Given the description of an element on the screen output the (x, y) to click on. 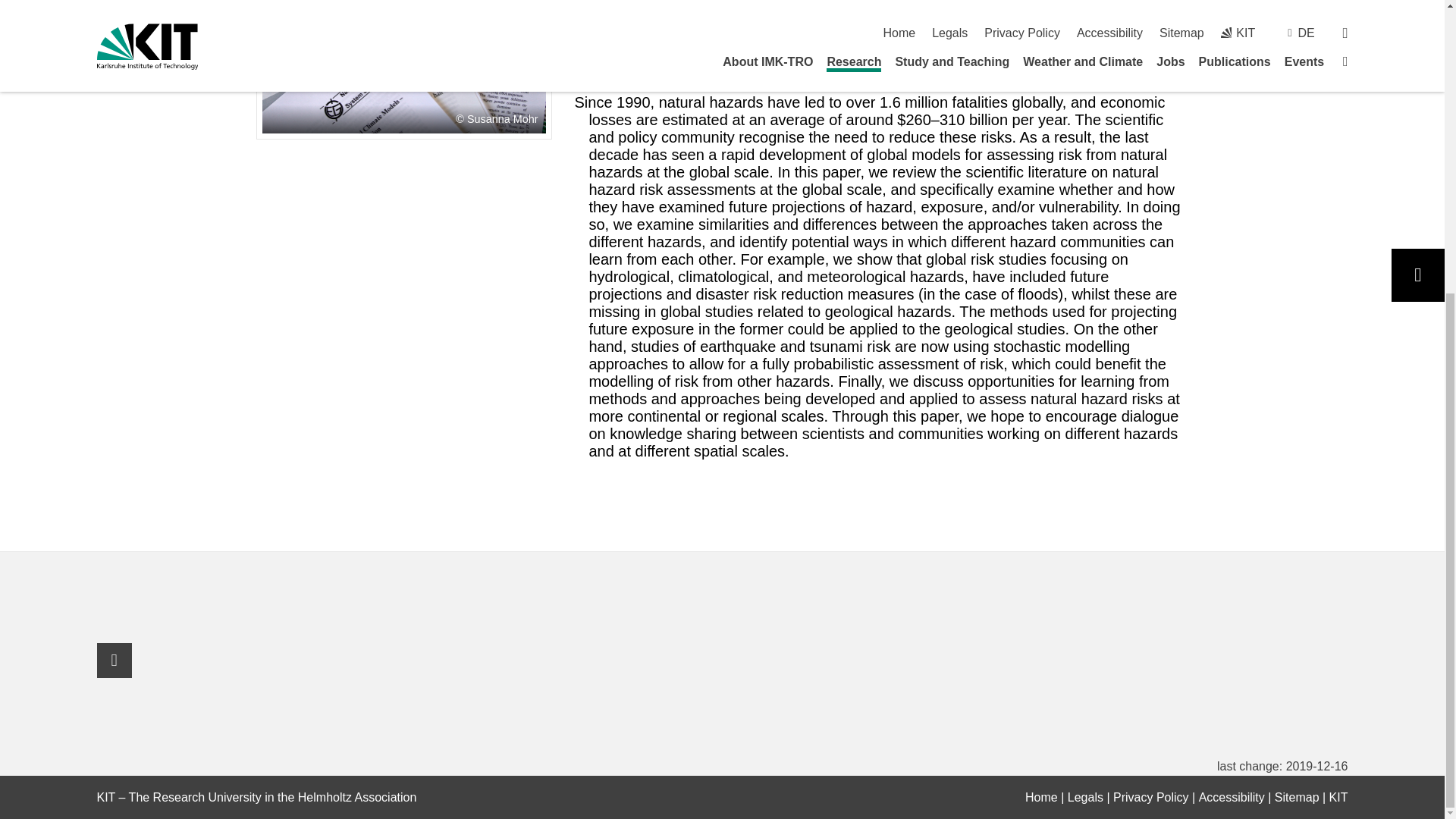
Facebook Profile  (114, 660)
startpage (1041, 797)
